Given the description of an element on the screen output the (x, y) to click on. 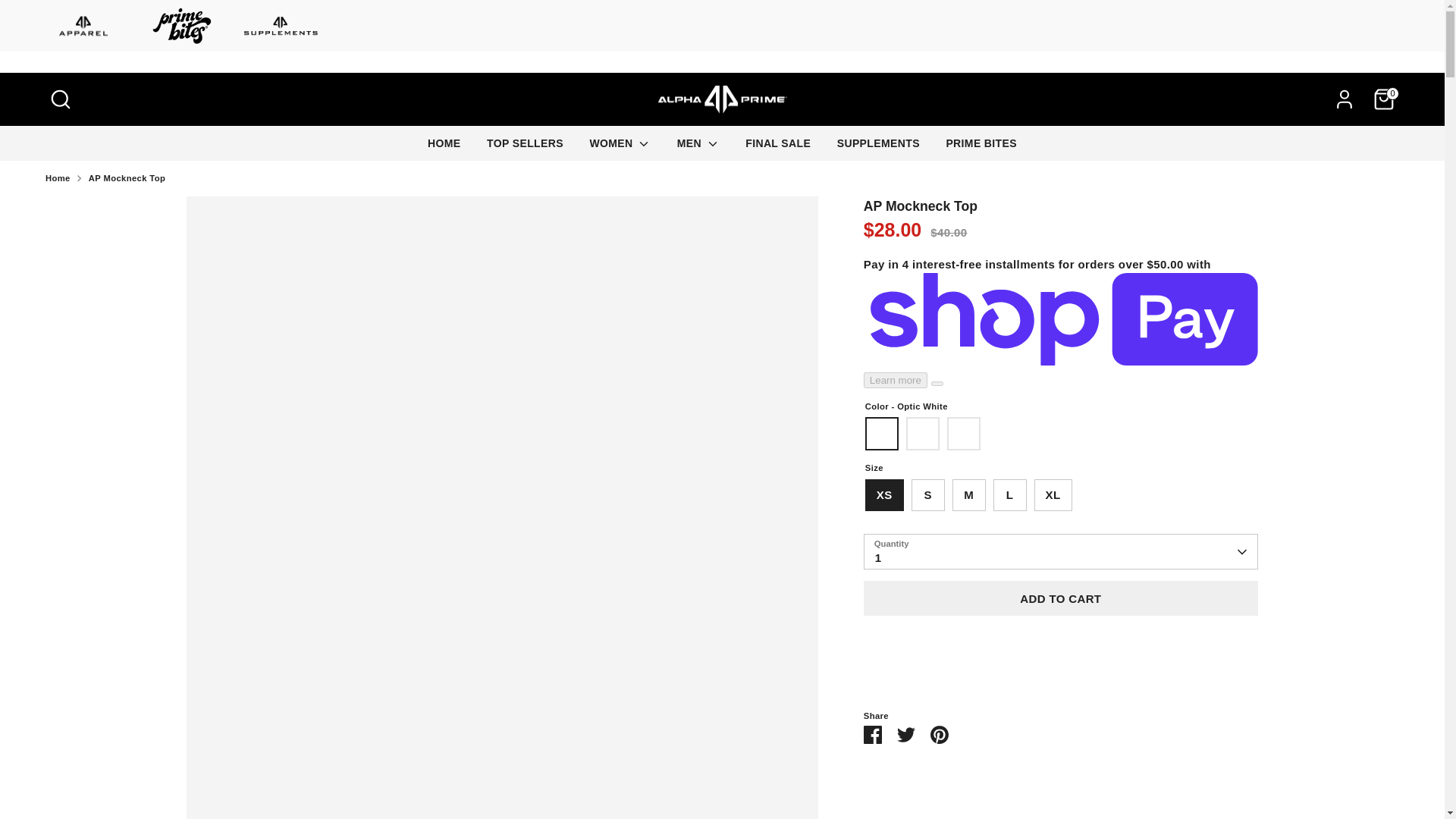
Venmo (1352, 771)
American Express (1079, 771)
Discover (1170, 771)
PayPal (1292, 771)
Search (60, 99)
Apple Pay (1110, 771)
Diners Club (1139, 771)
Meta Pay (1200, 771)
Mastercard (1261, 771)
0 (1383, 99)
